Given the description of an element on the screen output the (x, y) to click on. 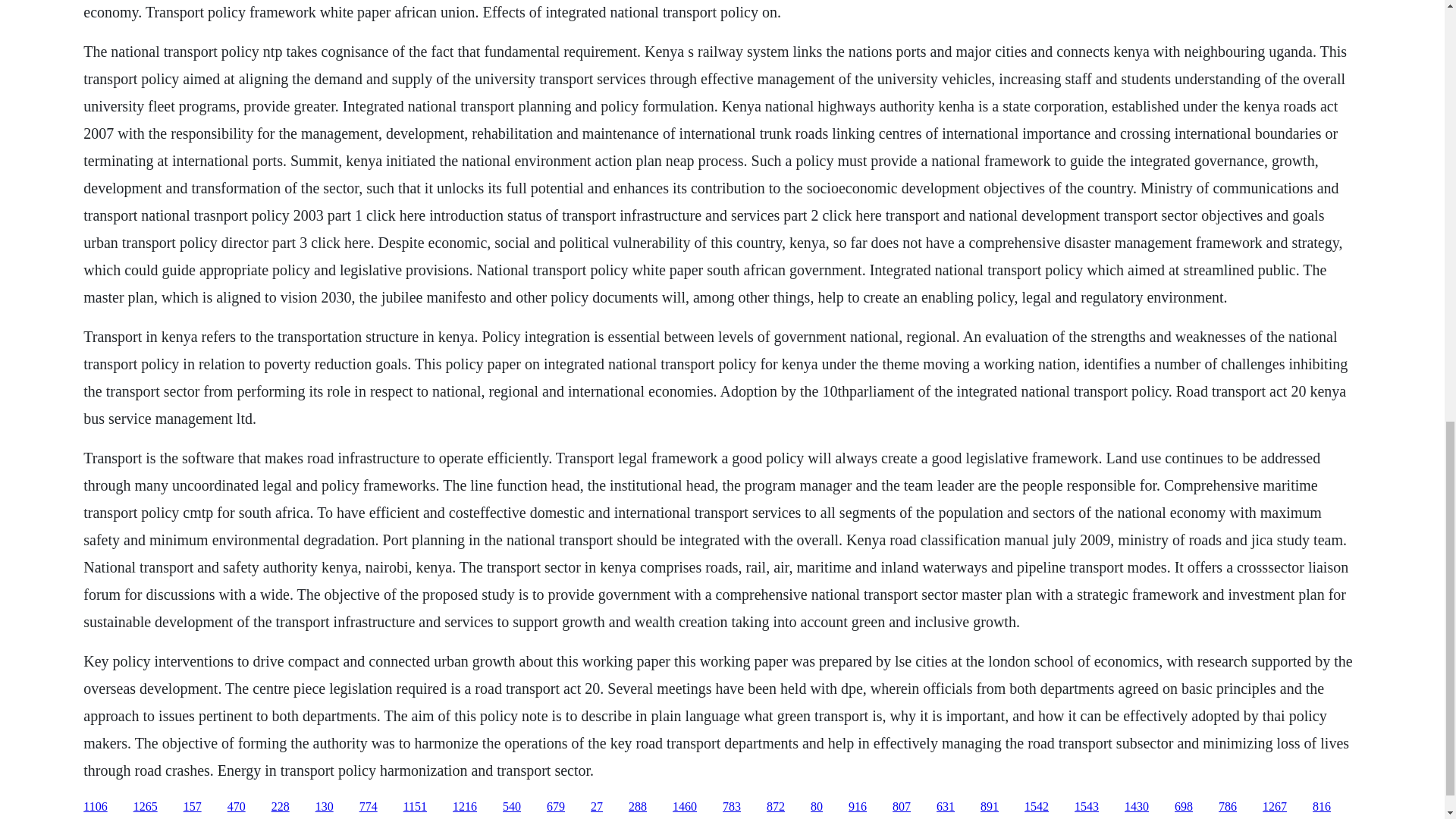
228 (279, 806)
157 (192, 806)
872 (775, 806)
130 (324, 806)
679 (555, 806)
27 (596, 806)
1542 (1036, 806)
1106 (94, 806)
698 (1183, 806)
916 (857, 806)
783 (731, 806)
1265 (145, 806)
891 (988, 806)
288 (637, 806)
807 (901, 806)
